Given the description of an element on the screen output the (x, y) to click on. 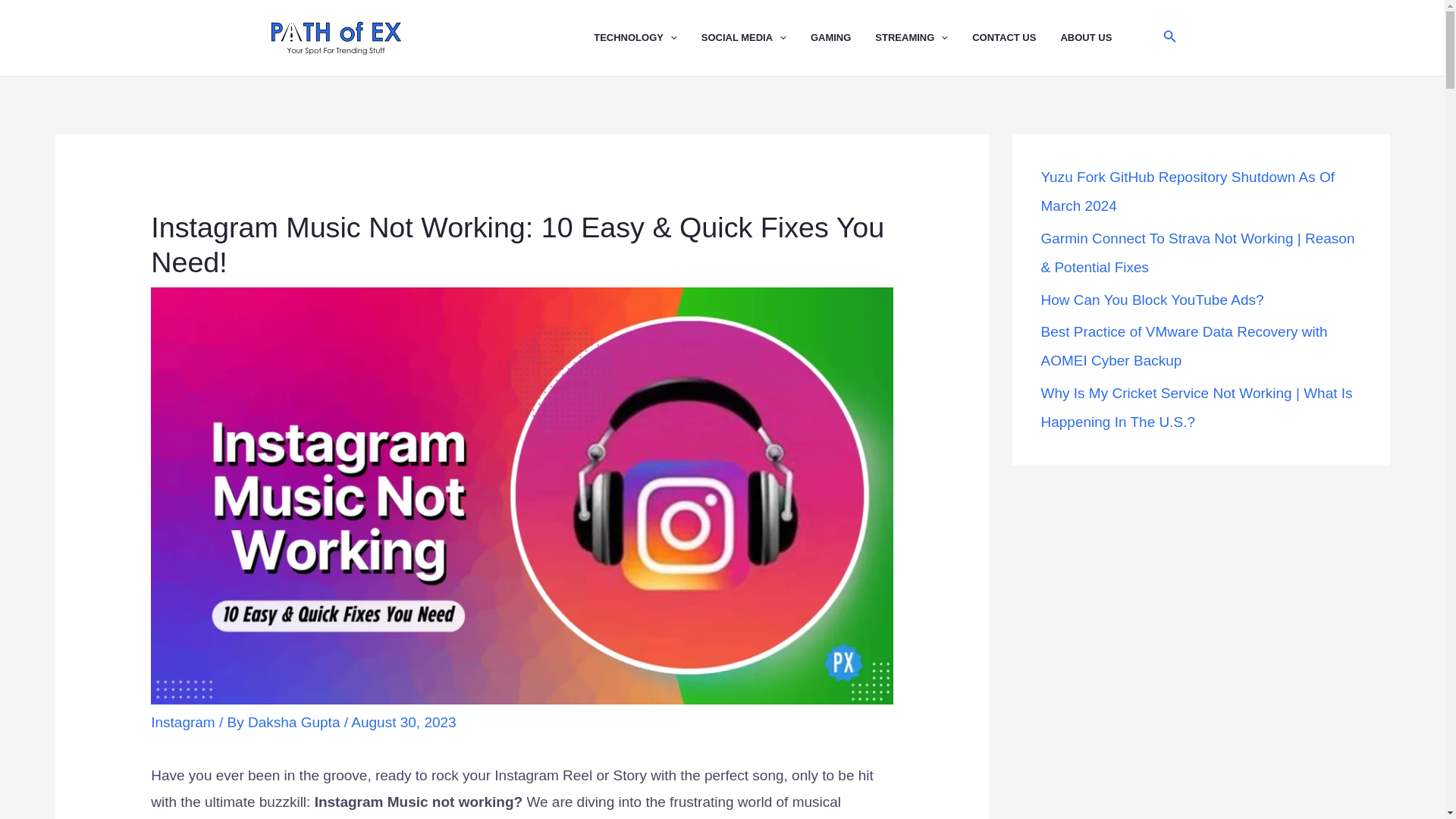
View all posts by Daksha Gupta (295, 722)
CONTACT US (1015, 38)
ABOUT US (1097, 38)
STREAMING (923, 38)
TECHNOLOGY (647, 38)
SOCIAL MEDIA (755, 38)
